Given the description of an element on the screen output the (x, y) to click on. 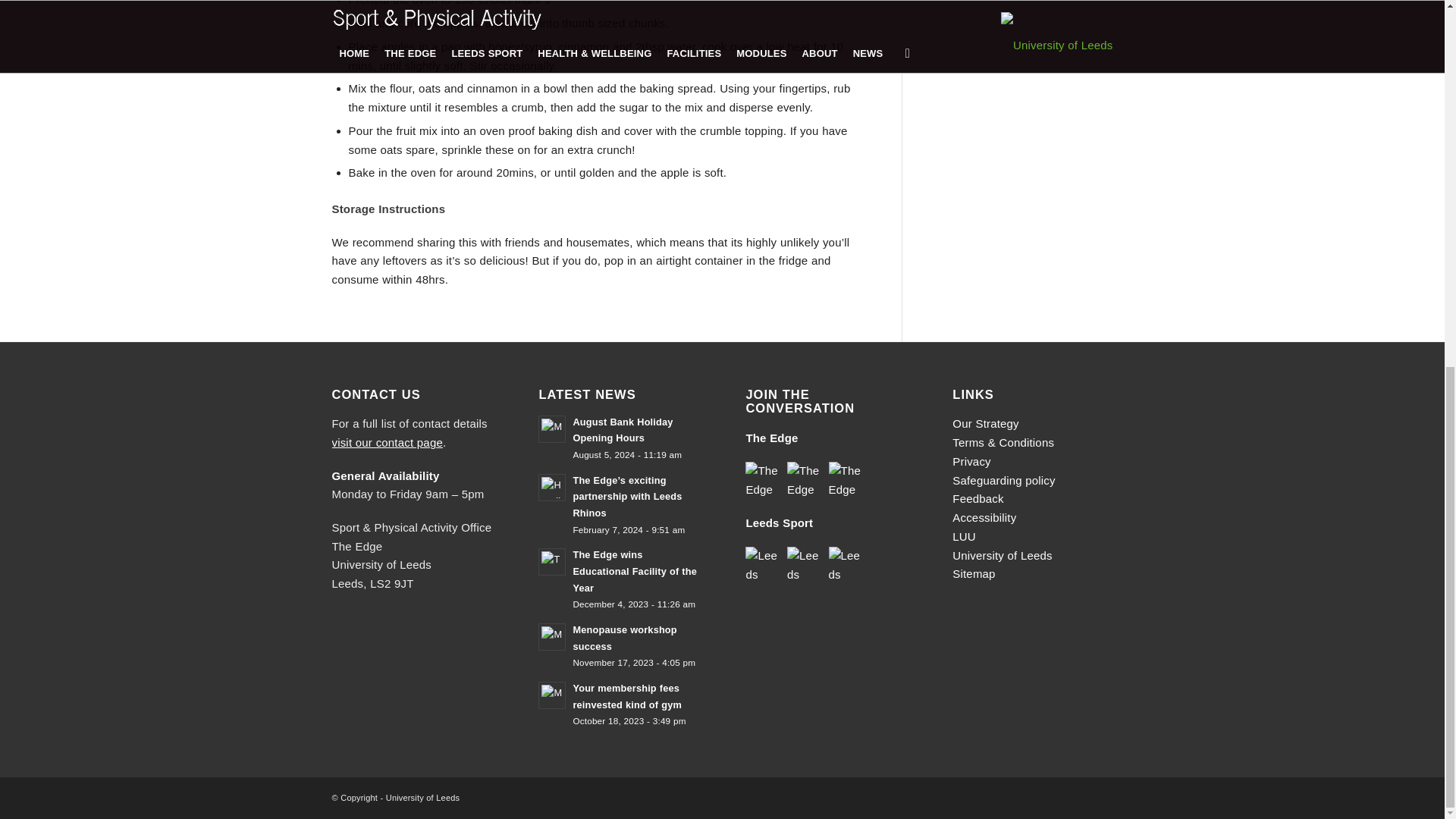
Read: Your membership fees reinvested kind of gym (626, 696)
Read: August Bank Holiday Opening Hours (622, 430)
Read: August Bank Holiday Opening Hours (552, 429)
Read: The Edge wins Educational Facility of the Year (634, 570)
Read: The Edge wins Educational Facility of the Year (552, 561)
Read: Menopause workshop success (552, 636)
Read: Your membership fees reinvested kind of gym (552, 695)
Read: Menopause workshop success (624, 637)
